Given the description of an element on the screen output the (x, y) to click on. 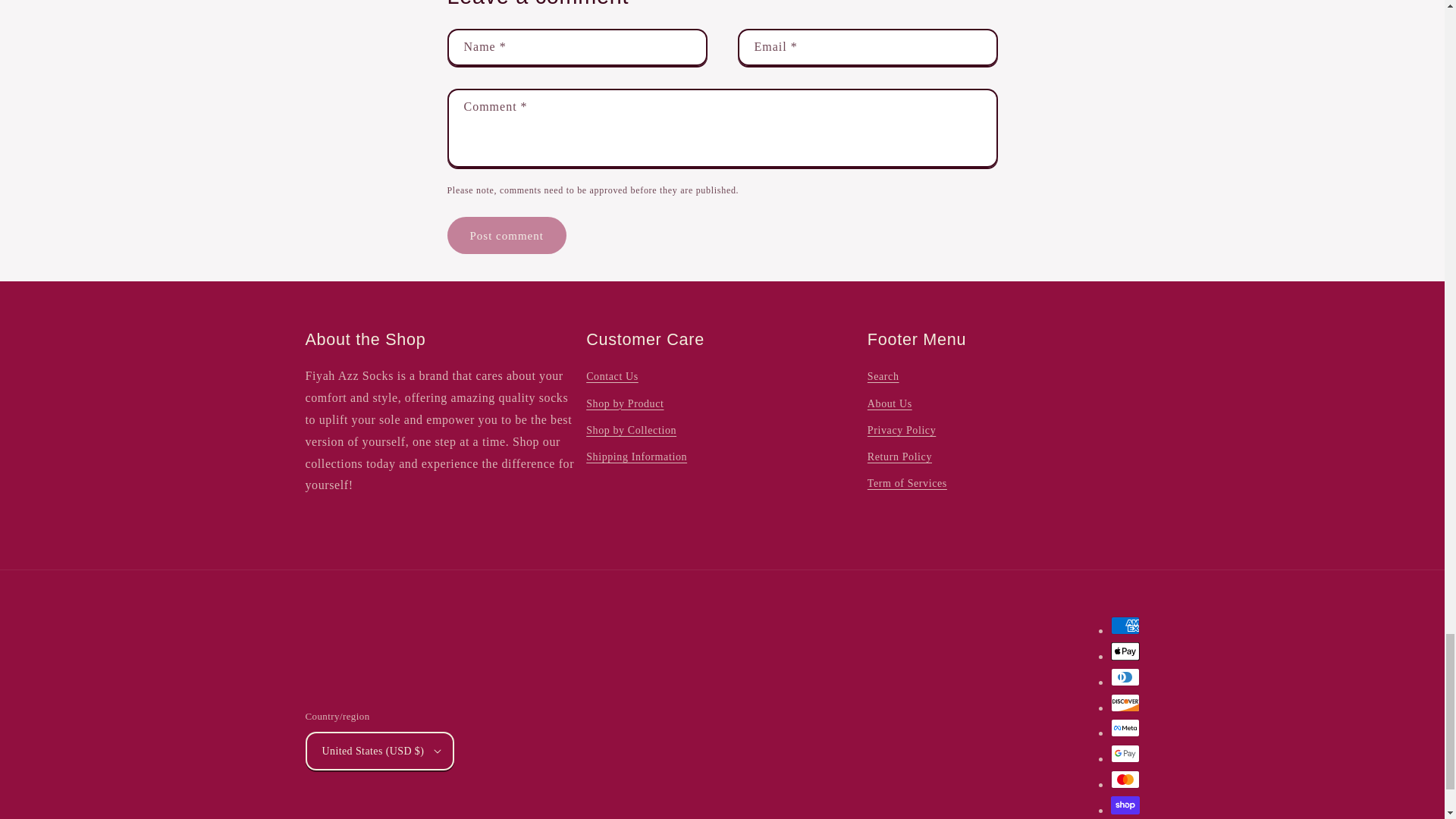
Meta Pay (1123, 728)
Google Pay (1123, 753)
Discover (1123, 701)
Mastercard (1123, 779)
Apple Pay (1123, 651)
Shop Pay (1123, 805)
Post comment (506, 235)
Diners Club (1123, 677)
American Express (1123, 625)
